Given the description of an element on the screen output the (x, y) to click on. 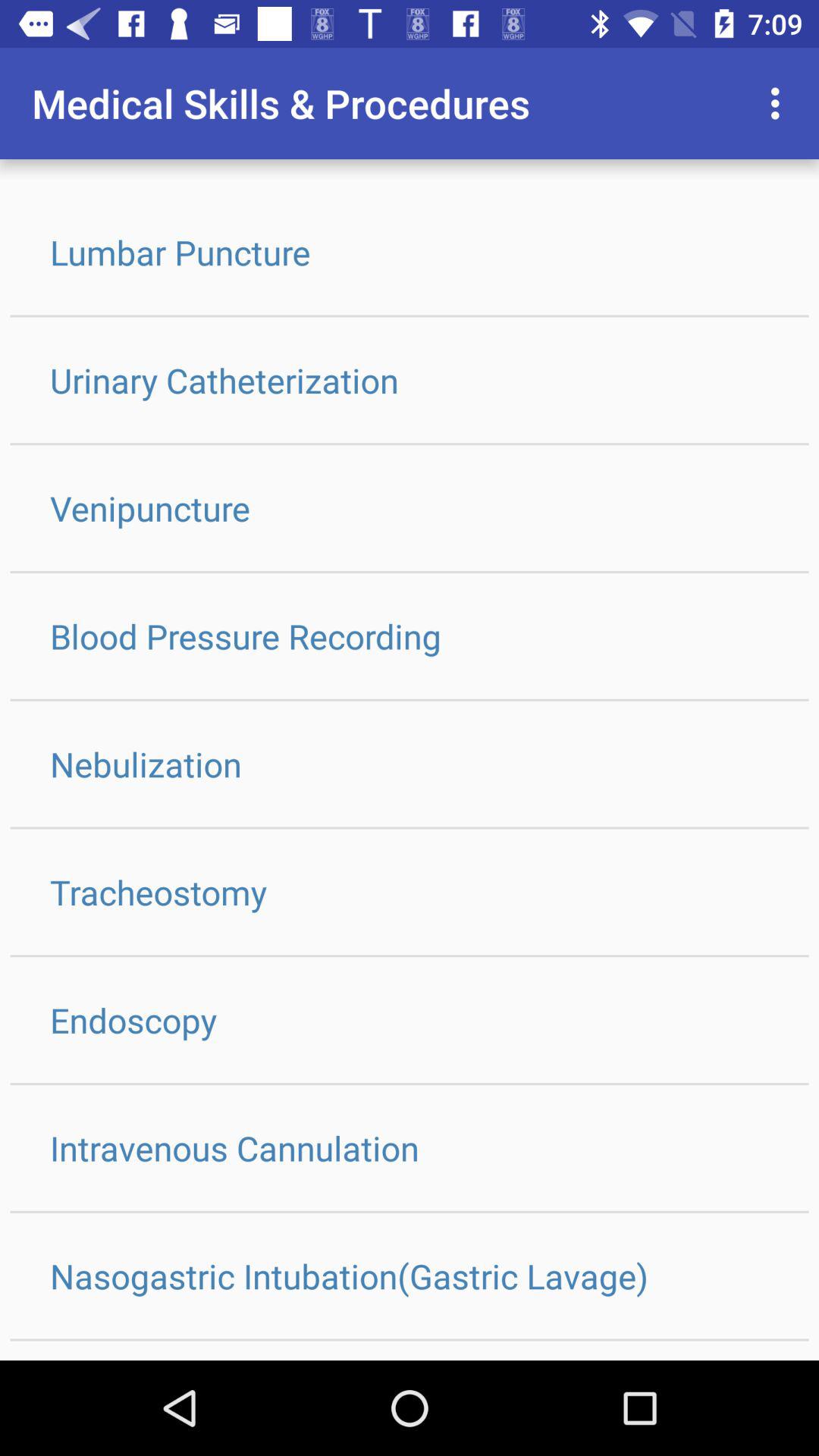
click the tracheostomy (409, 891)
